Given the description of an element on the screen output the (x, y) to click on. 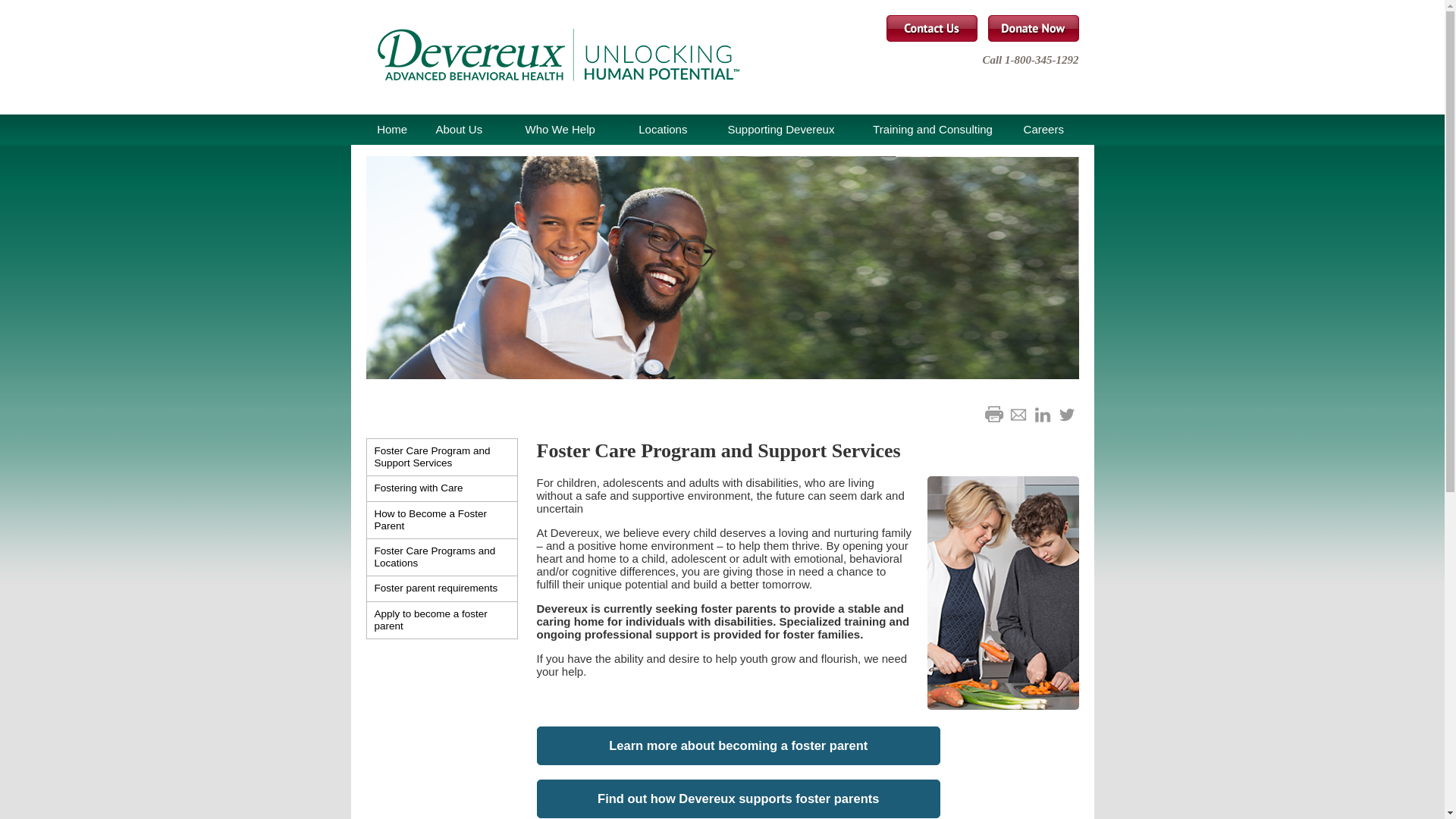
Contact Us (931, 28)
Who We Help (560, 129)
Locations (662, 129)
About Us (459, 129)
Send email (1017, 414)
Devereux Advanced Behavioral Health (543, 57)
Donate Now (1032, 28)
Supporting Devereux (780, 129)
Print (993, 414)
Share on LinkedIn (1041, 414)
